Given the description of an element on the screen output the (x, y) to click on. 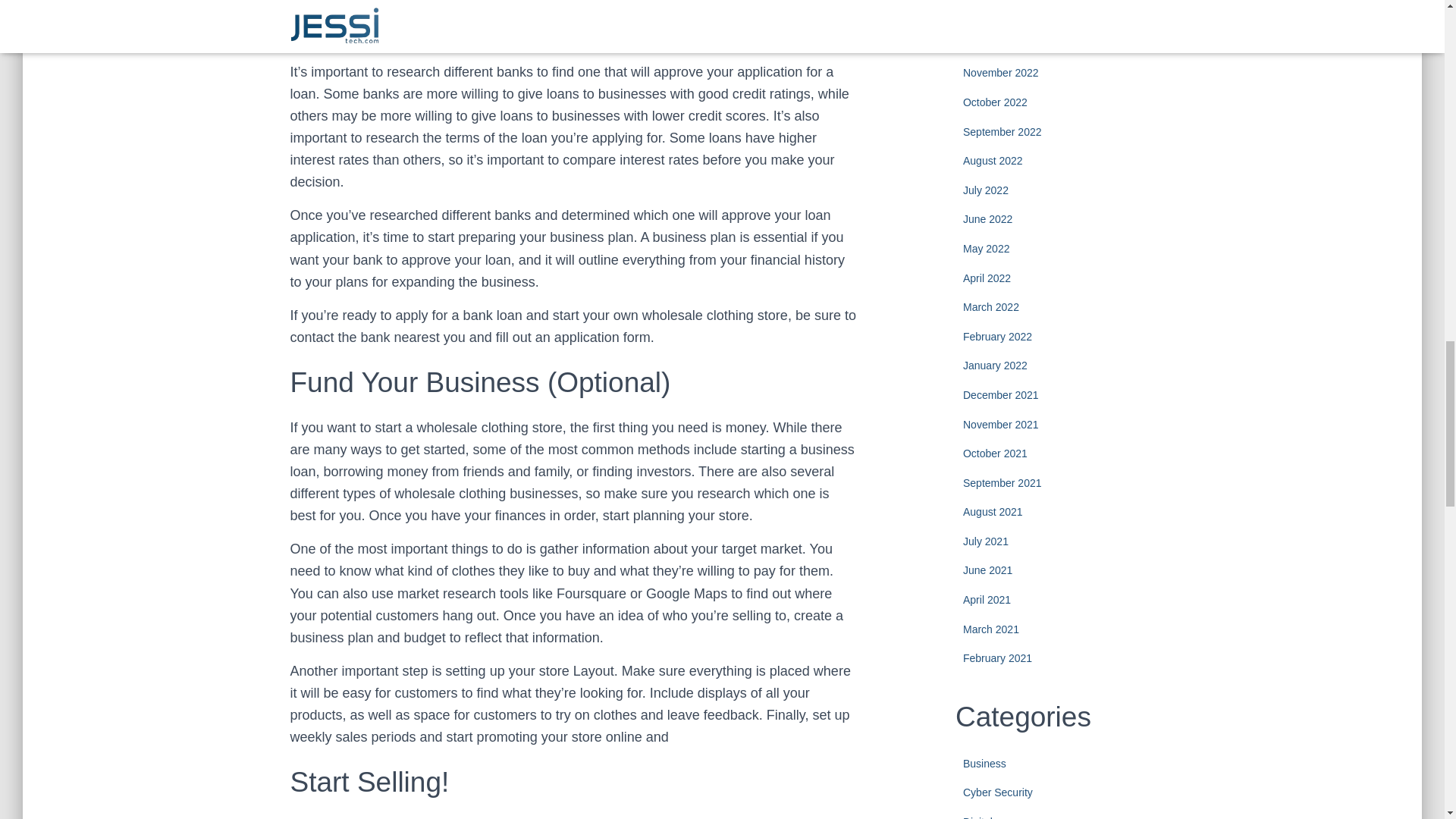
January 2023 (994, 14)
September 2022 (1002, 132)
November 2022 (1000, 72)
July 2022 (985, 190)
August 2022 (992, 160)
October 2022 (994, 102)
December 2022 (1000, 43)
